Given the description of an element on the screen output the (x, y) to click on. 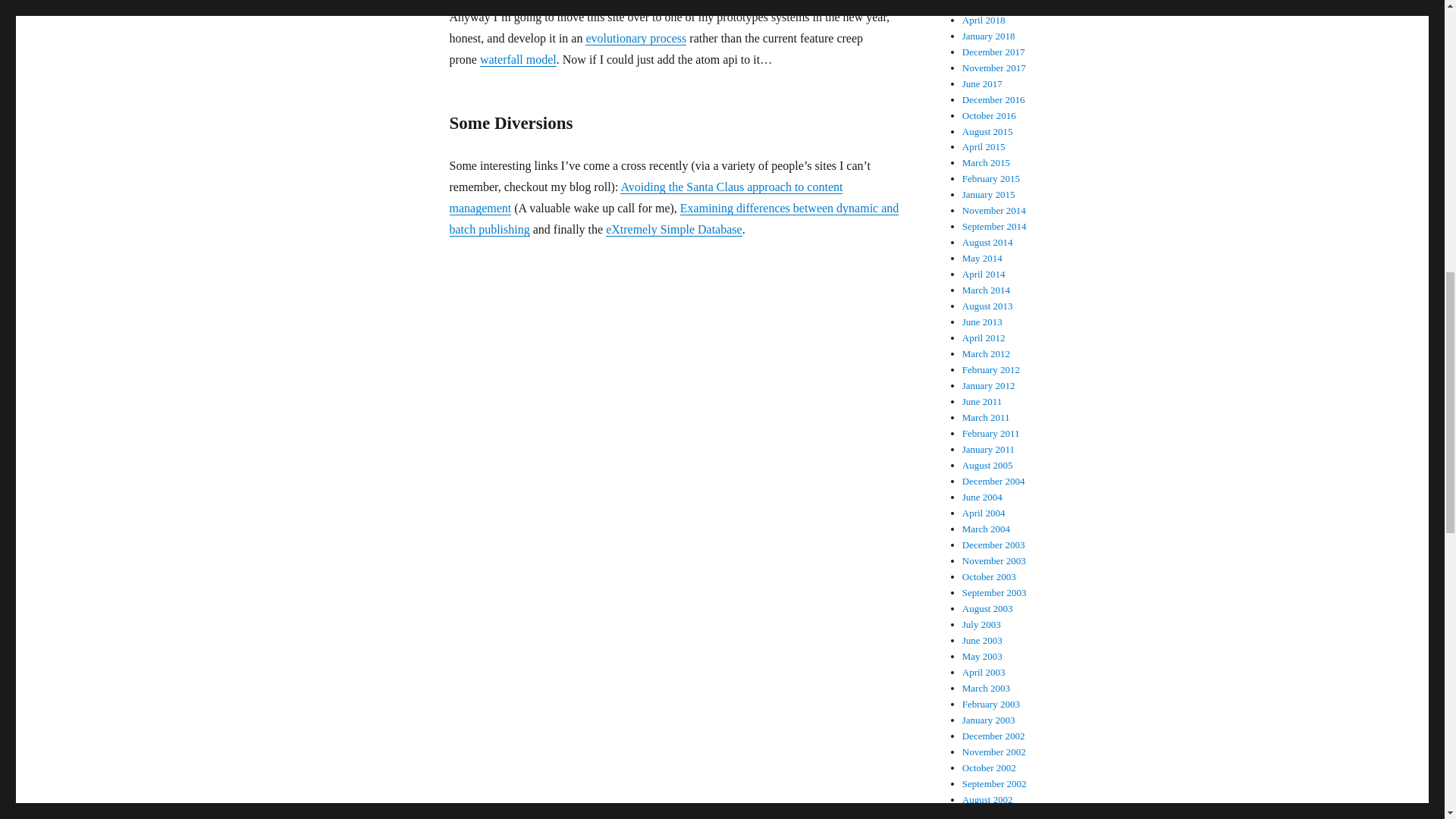
evolutionary process (635, 38)
Examining differences between dynamic and batch publishing (673, 218)
Avoiding the Santa Claus approach to content management (645, 197)
eXtremely Simple Database (673, 228)
waterfall model (518, 59)
